Given the description of an element on the screen output the (x, y) to click on. 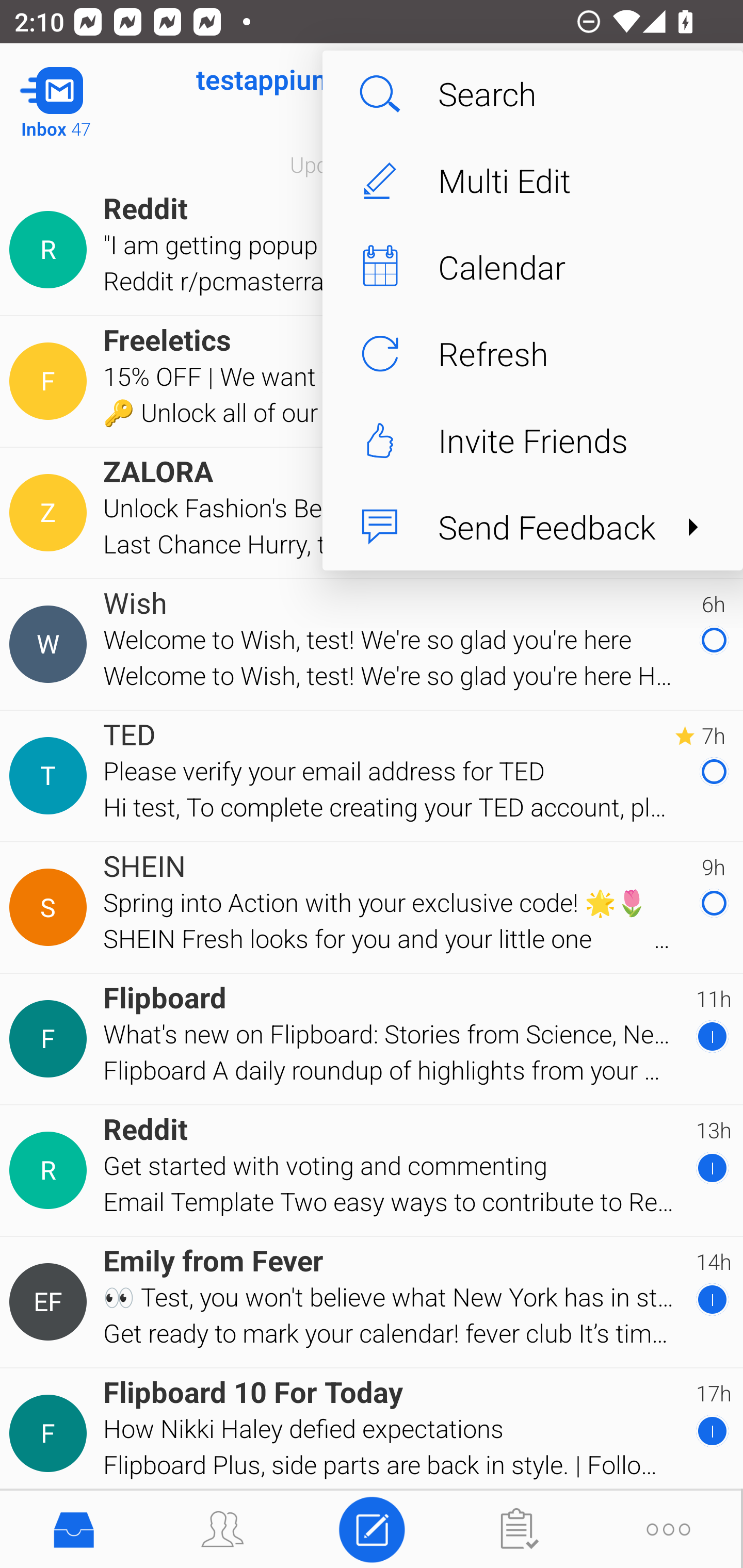
Search (532, 93)
Multi Edit (532, 180)
Calendar (532, 267)
Refresh (532, 353)
Invite Friends (532, 440)
Send Feedback (532, 527)
